Given the description of an element on the screen output the (x, y) to click on. 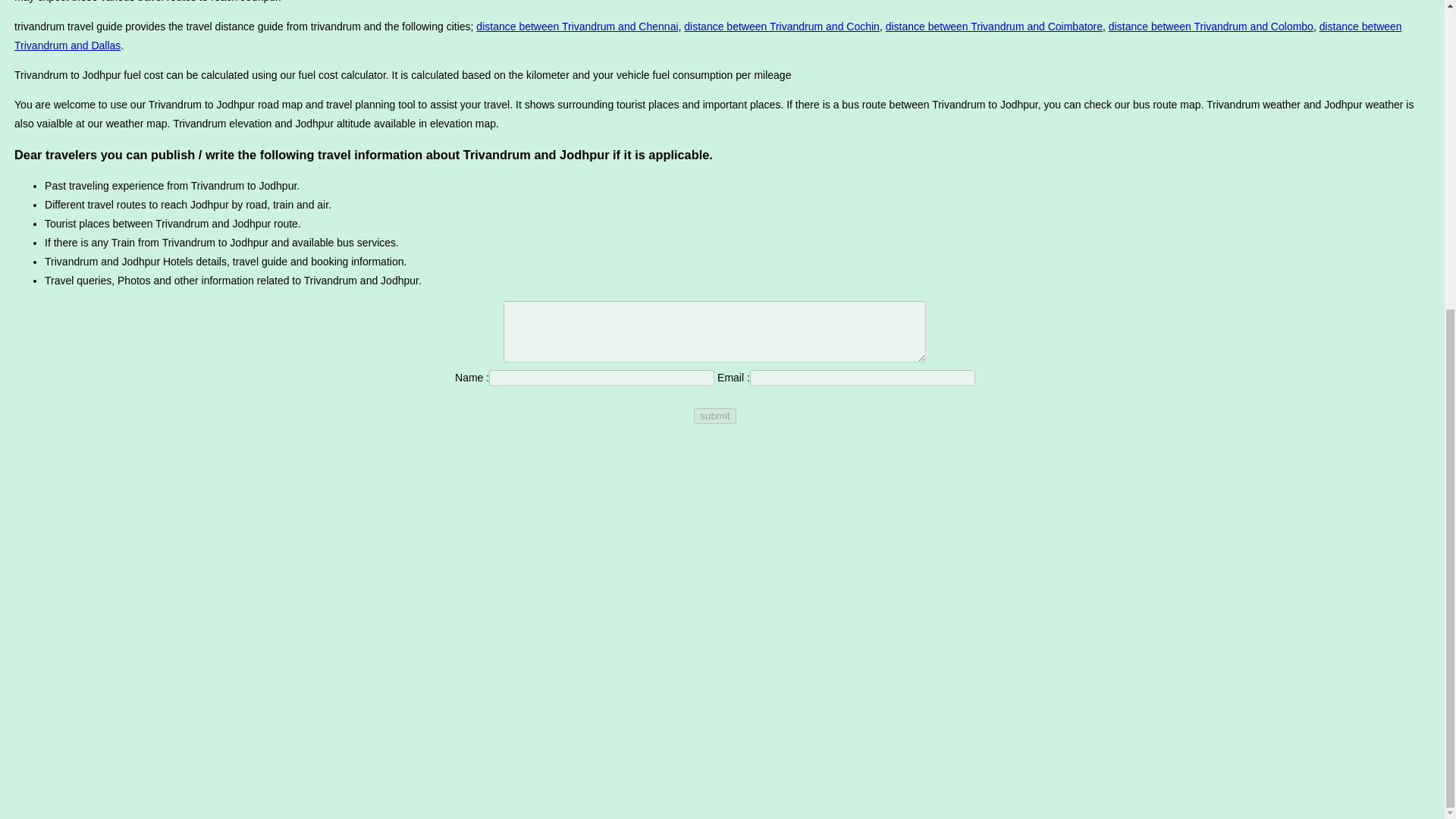
submit (714, 415)
distance between Trivandrum and Colombo (1210, 26)
distance between Trivandrum and Dallas (708, 35)
submit (714, 415)
distance between Trivandrum and Cochin (781, 26)
distance between Trivandrum and Coimbatore (993, 26)
distance between Trivandrum and Chennai (577, 26)
